Given the description of an element on the screen output the (x, y) to click on. 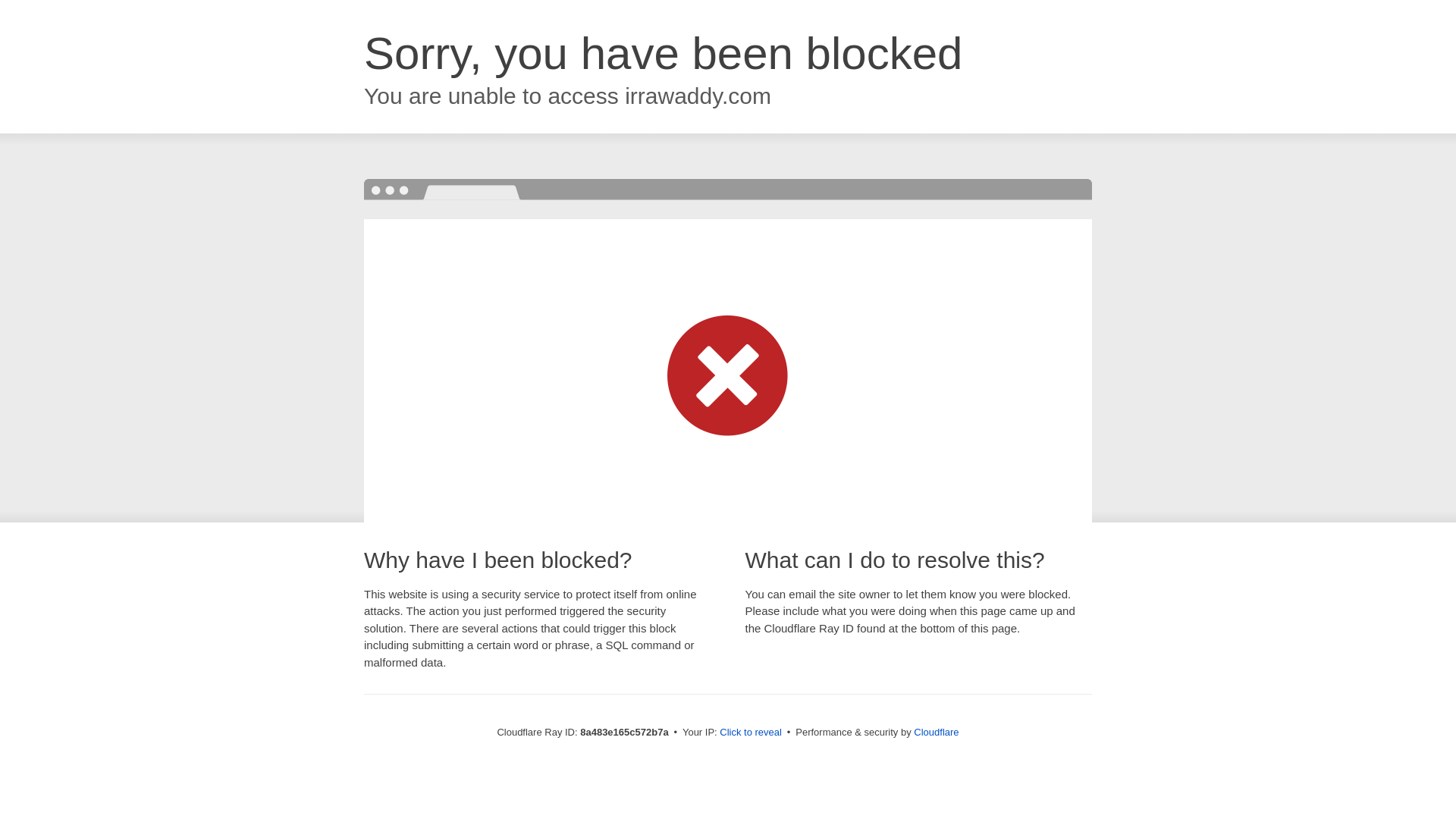
Cloudflare (936, 731)
Click to reveal (750, 732)
